Given the description of an element on the screen output the (x, y) to click on. 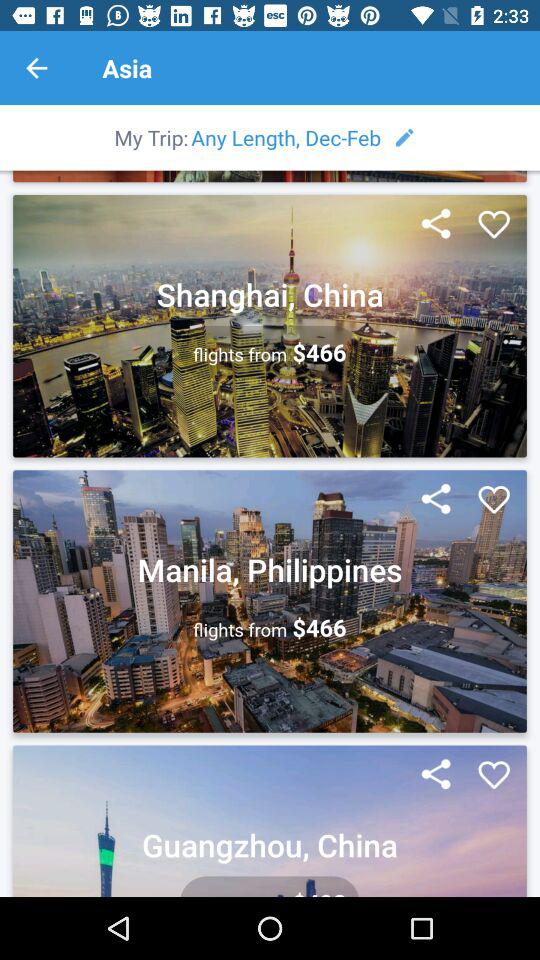
go to the previous page (36, 68)
